Given the description of an element on the screen output the (x, y) to click on. 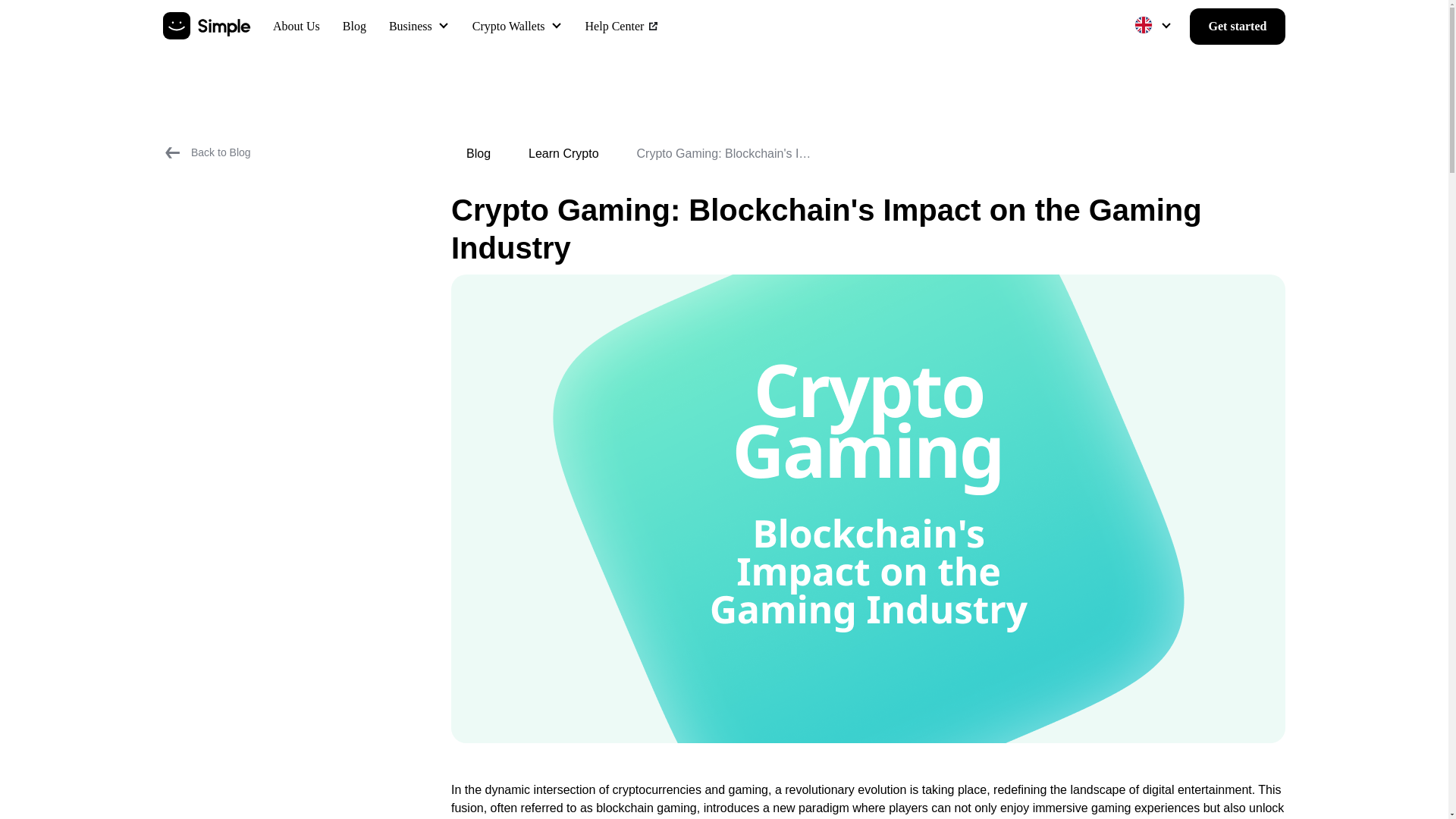
Help Center (621, 26)
Learn Crypto (563, 153)
Blog (477, 153)
Back to Blog (206, 152)
Crypto Wallets (507, 26)
Blog (354, 26)
About Us (296, 26)
Get started (1237, 26)
